Given the description of an element on the screen output the (x, y) to click on. 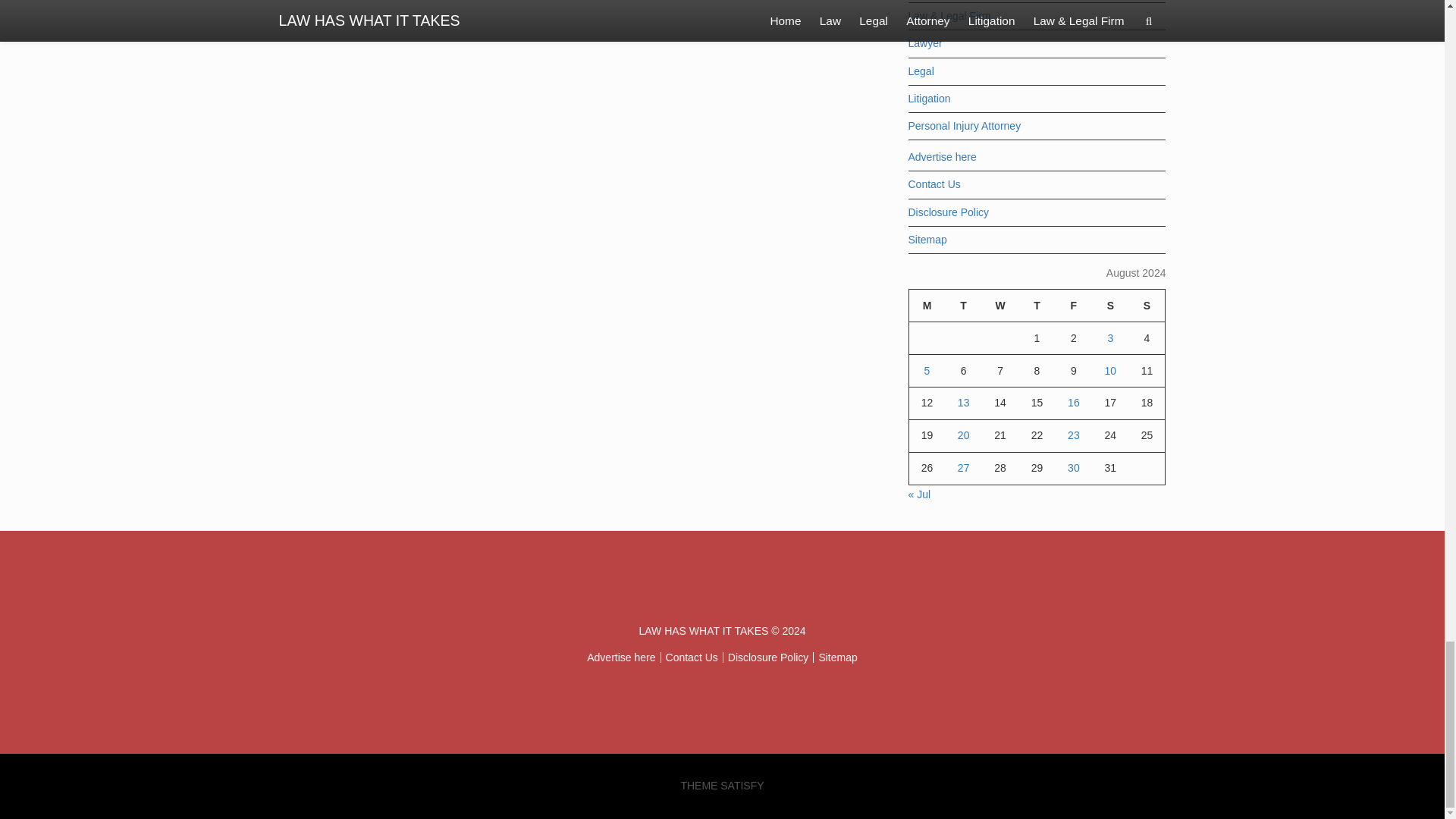
Sunday (1147, 305)
Tuesday (962, 305)
Friday (1073, 305)
Saturday (1110, 305)
Monday (926, 305)
Thursday (1035, 305)
Wednesday (999, 305)
